Given the description of an element on the screen output the (x, y) to click on. 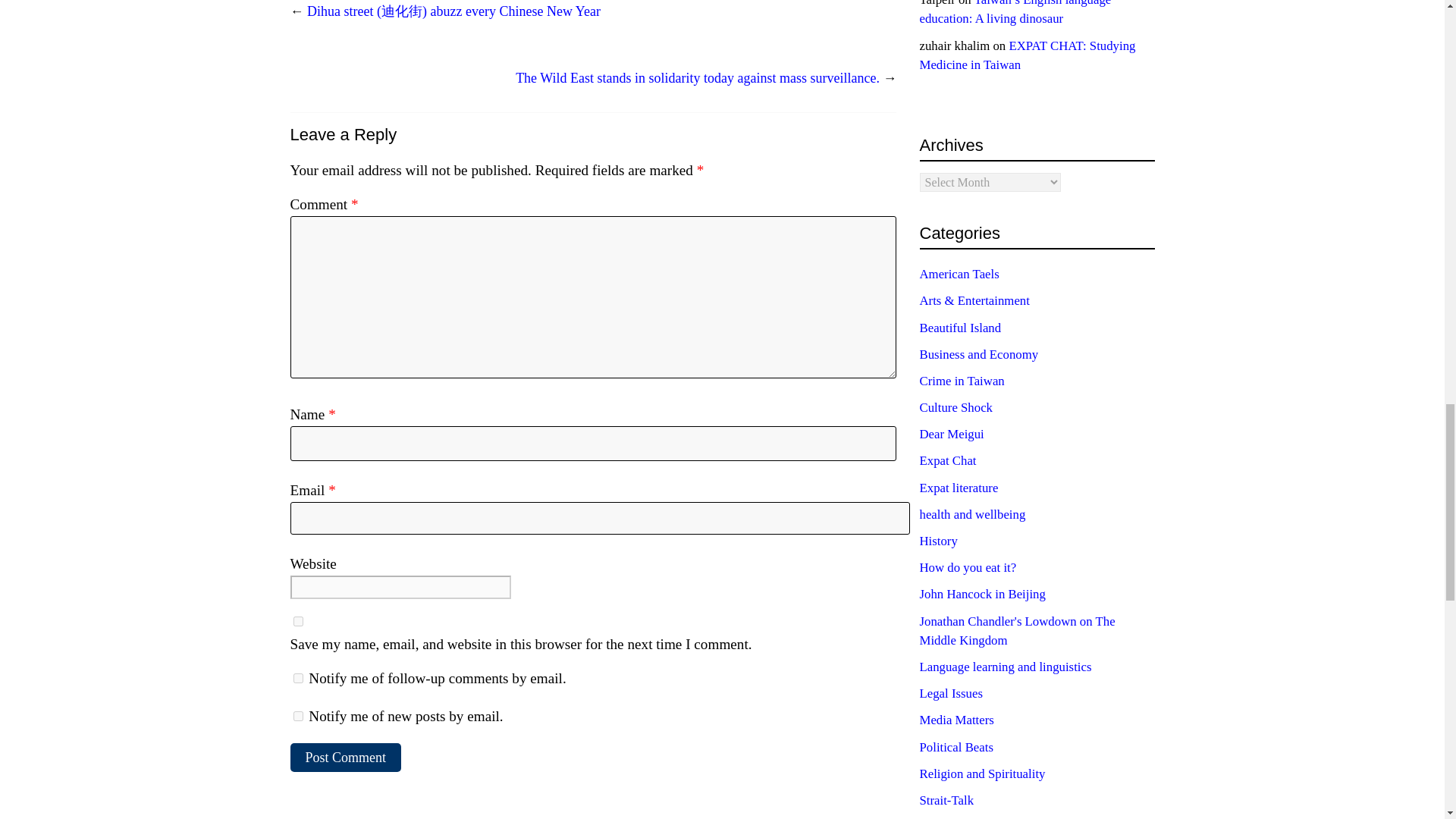
yes (297, 621)
subscribe (297, 716)
subscribe (297, 678)
Post Comment (345, 757)
Post Comment (345, 757)
